Given the description of an element on the screen output the (x, y) to click on. 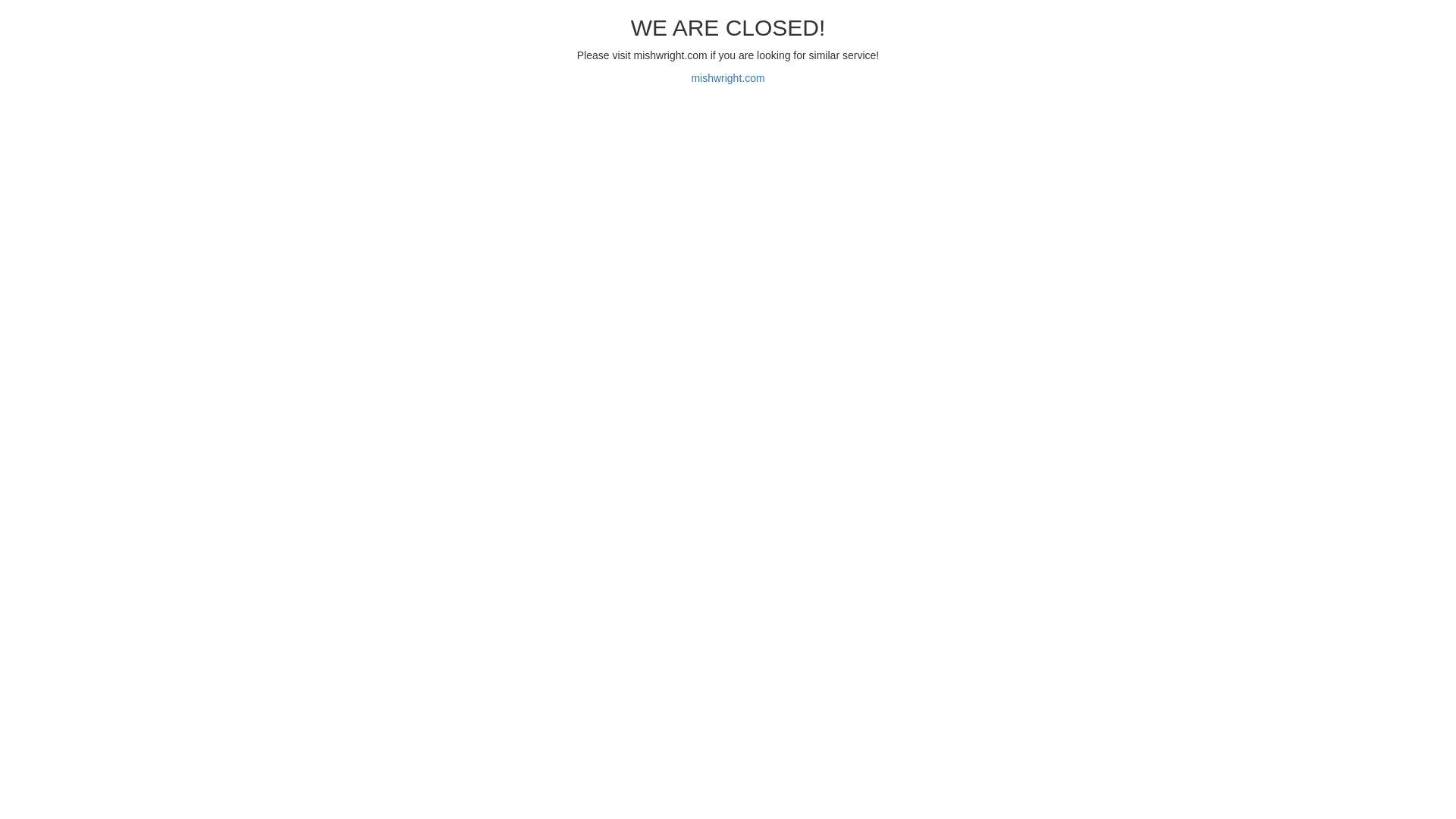
mishwright.com Element type: text (727, 78)
